Given the description of an element on the screen output the (x, y) to click on. 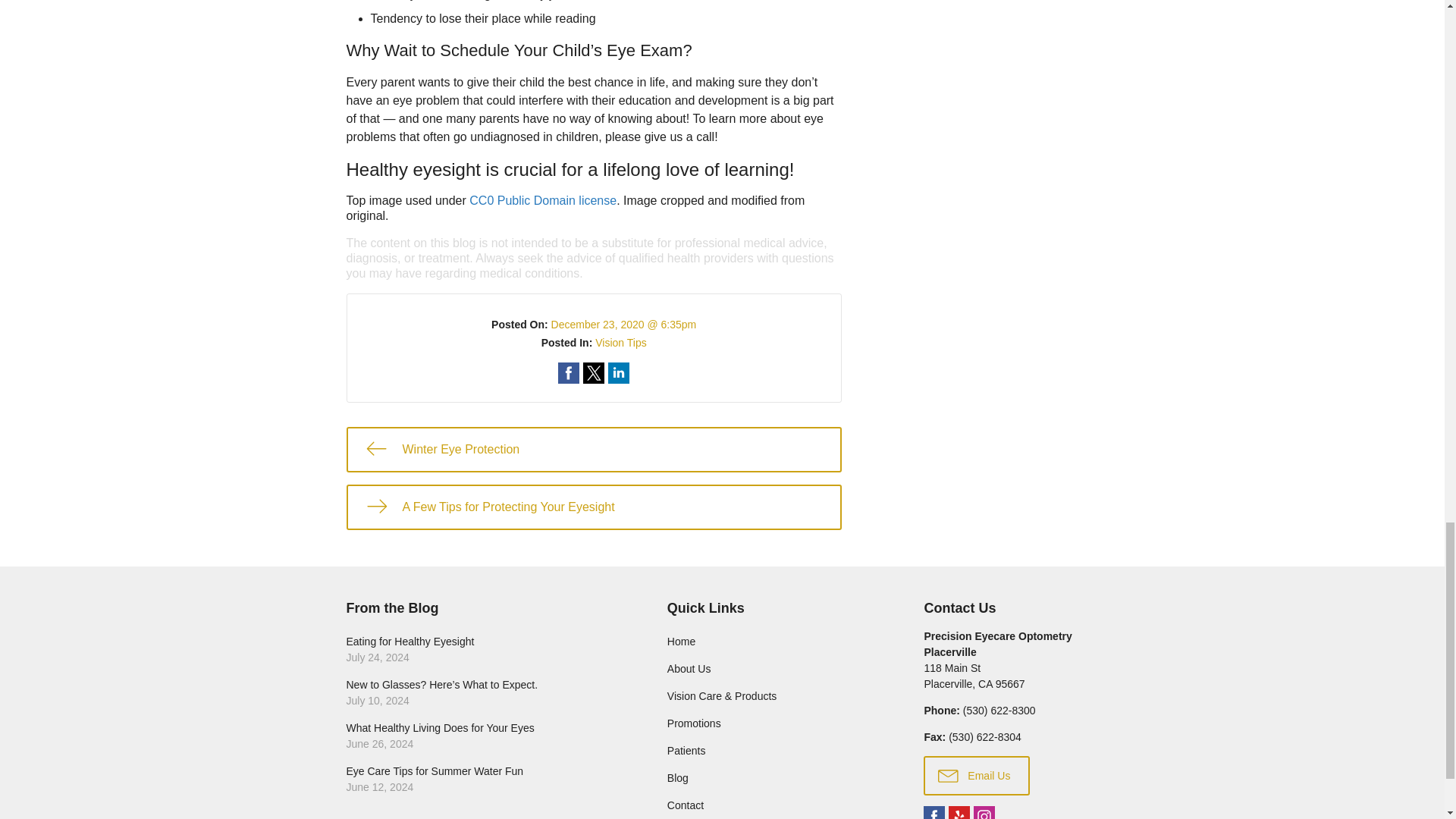
Share on LinkedIn (618, 373)
Go to our Instagram Page (984, 812)
Contact practice (998, 710)
Share on Facebook (568, 373)
Share on Twitter (593, 373)
Winter Eye Protection (593, 449)
Share on LinkedIn (618, 373)
Go to our Facebook Page (933, 812)
Share on Facebook (568, 373)
A Few Tips for Protecting Your Eyesight (593, 506)
Open this address in Google Maps (974, 675)
Vision Tips (620, 342)
CC0 Public Domain license (541, 200)
Go to our Yelp Page (959, 812)
Share on Twitter (593, 373)
